Given the description of an element on the screen output the (x, y) to click on. 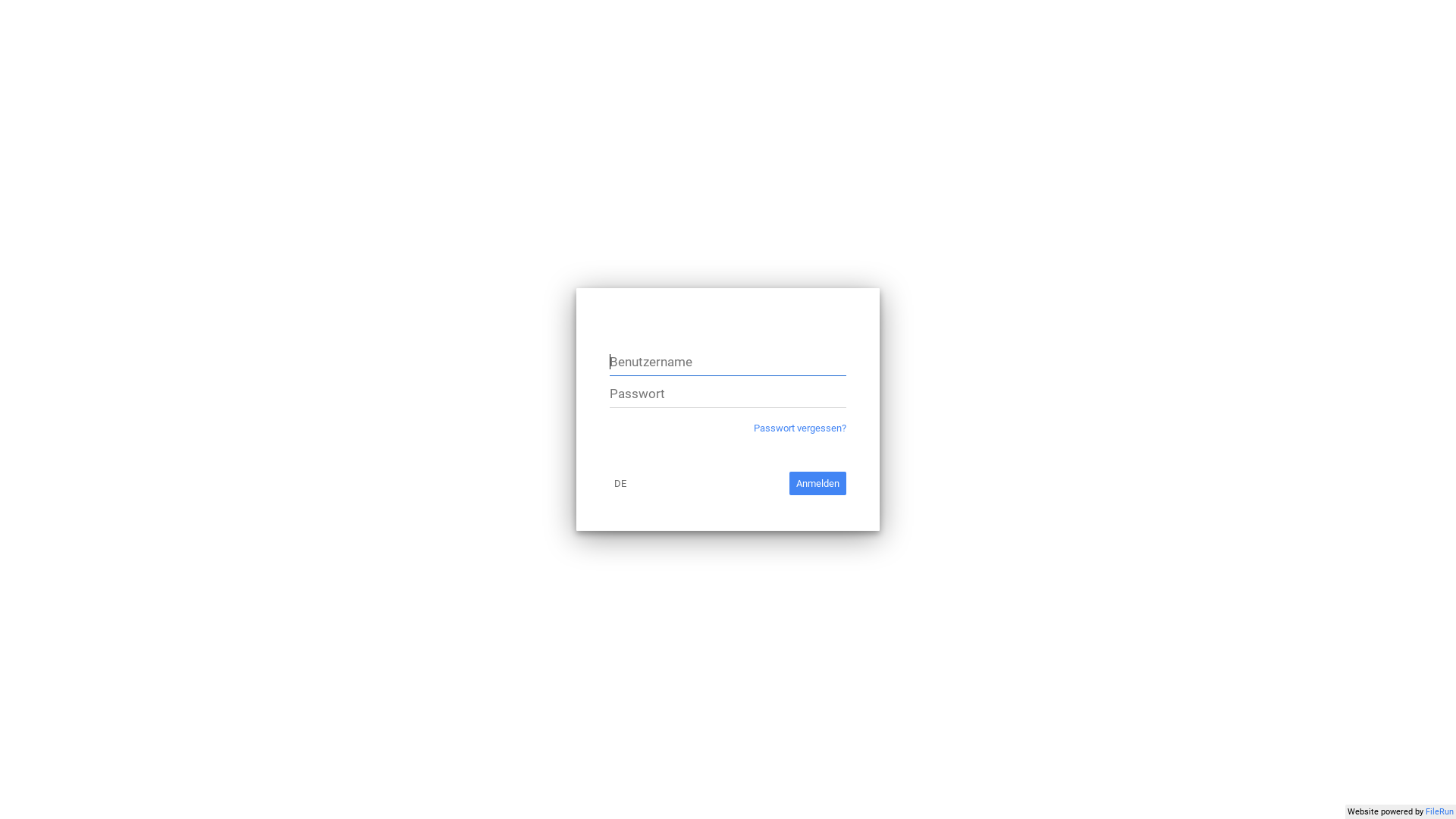
Passwort vergessen? Element type: text (799, 427)
  Element type: text (576, 288)
FileRun Element type: text (1439, 811)
